Given the description of an element on the screen output the (x, y) to click on. 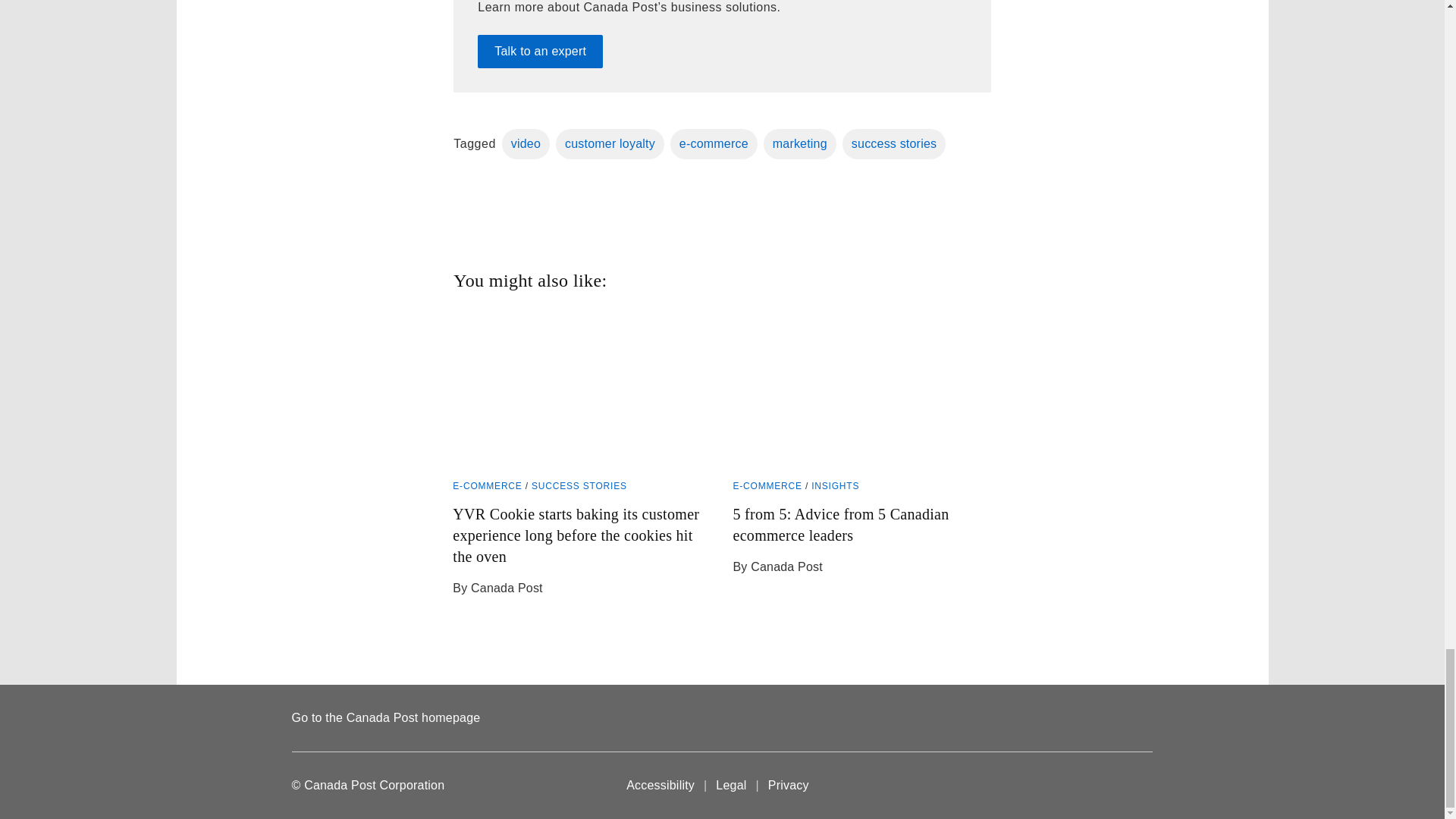
video (526, 143)
Canada (1123, 784)
customer loyalty (609, 143)
Talk to an expert (539, 51)
